Given the description of an element on the screen output the (x, y) to click on. 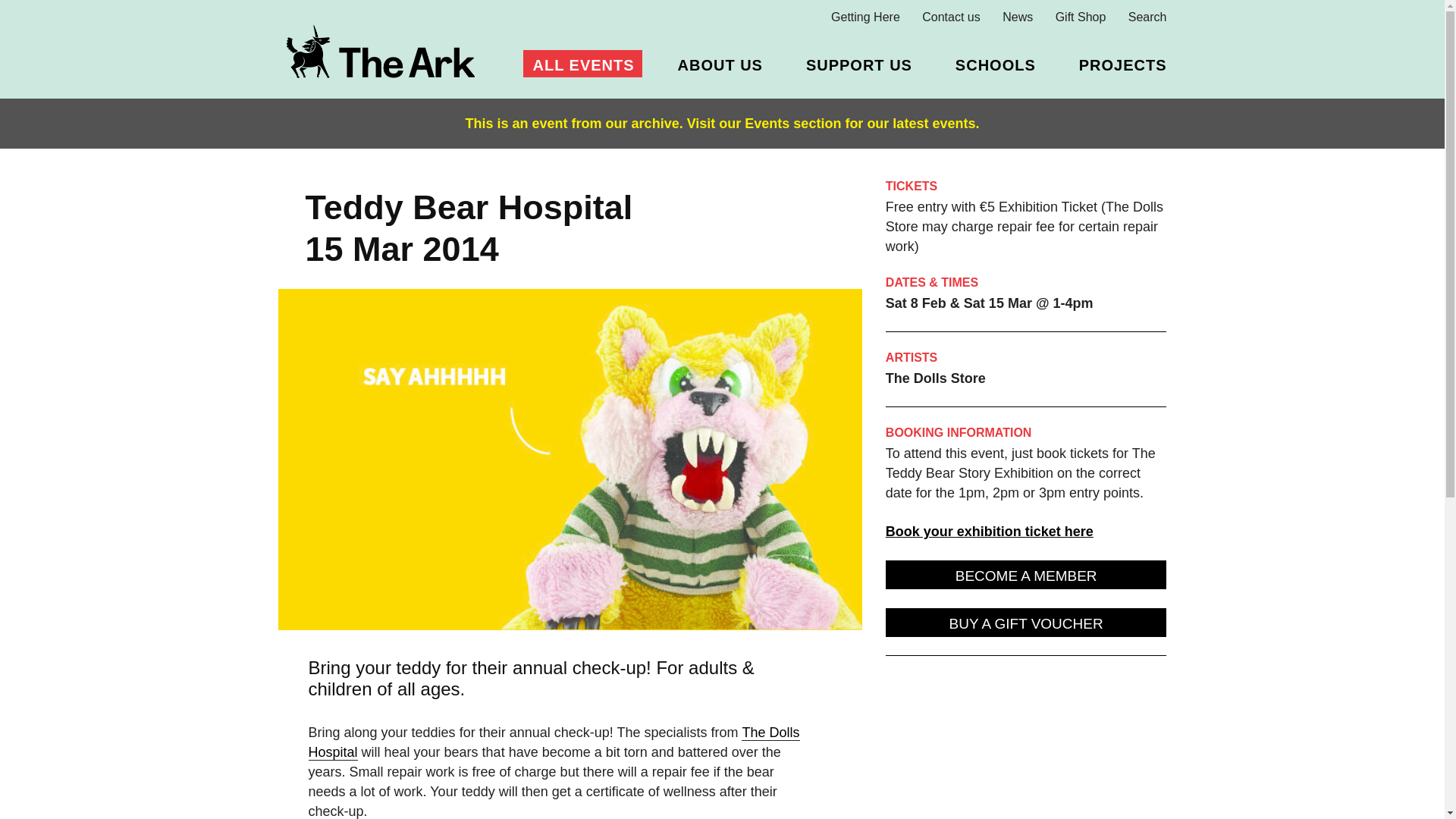
SCHOOLS (993, 62)
Search (1147, 17)
ABOUT US (717, 62)
ALL EVENTS (580, 62)
SUPPORT US (856, 62)
Gift Shop (1080, 17)
News (1017, 17)
Contact us (950, 17)
PROJECTS (1120, 62)
Getting Here (865, 17)
